Given the description of an element on the screen output the (x, y) to click on. 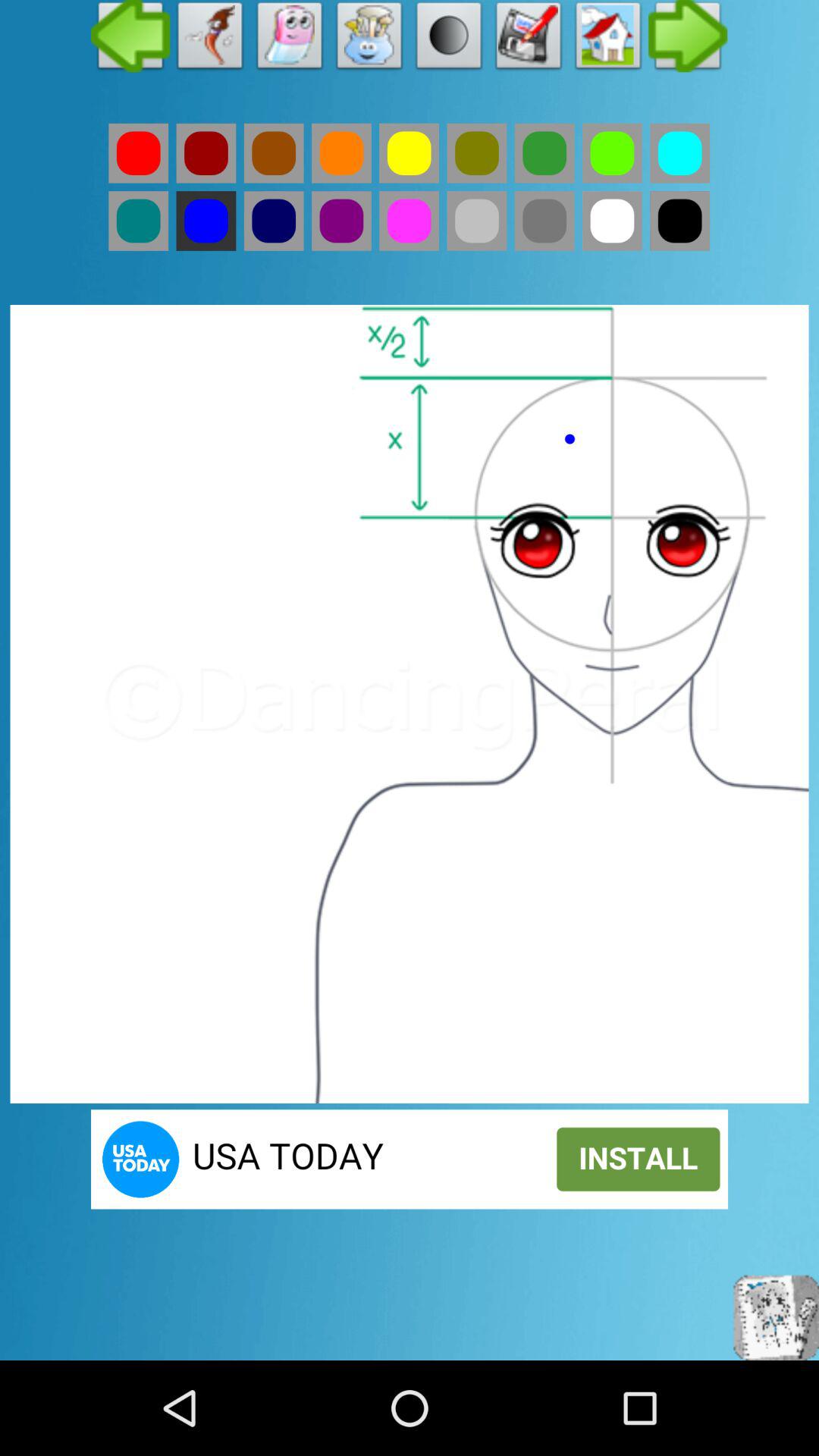
select this color (273, 153)
